Given the description of an element on the screen output the (x, y) to click on. 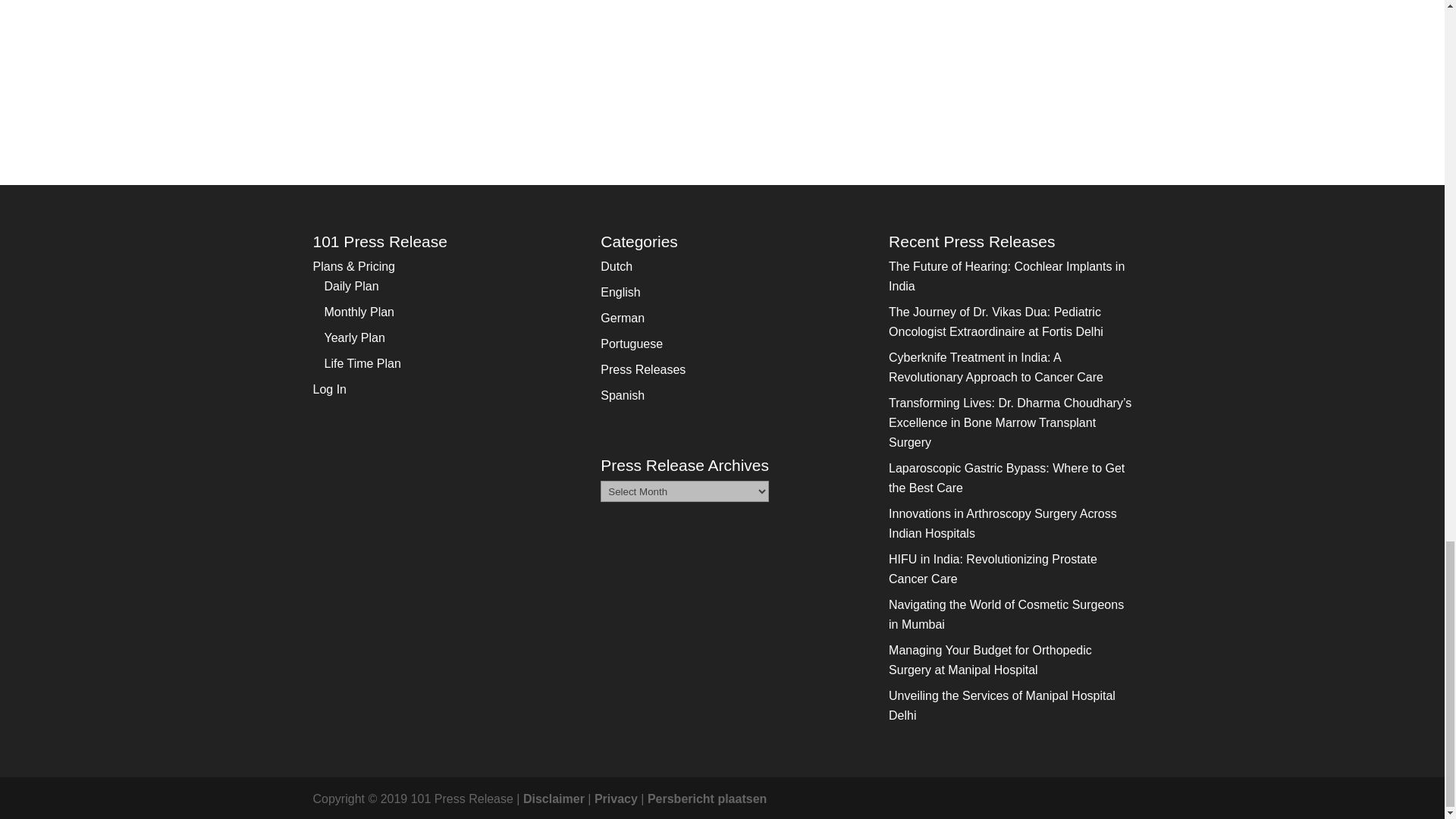
Spanish (622, 395)
Log In (329, 389)
Life Time Plan (362, 363)
The Future of Hearing: Cochlear Implants in India (1006, 276)
Disclaimer (553, 798)
HIFU in India: Revolutionizing Prostate Cancer Care (992, 568)
Unveiling the Services of Manipal Hospital Delhi (1001, 705)
Persbericht plaatsen (707, 798)
Dutch (615, 266)
Laparoscopic Gastric Bypass: Where to Get the Best Care (1006, 477)
